Given the description of an element on the screen output the (x, y) to click on. 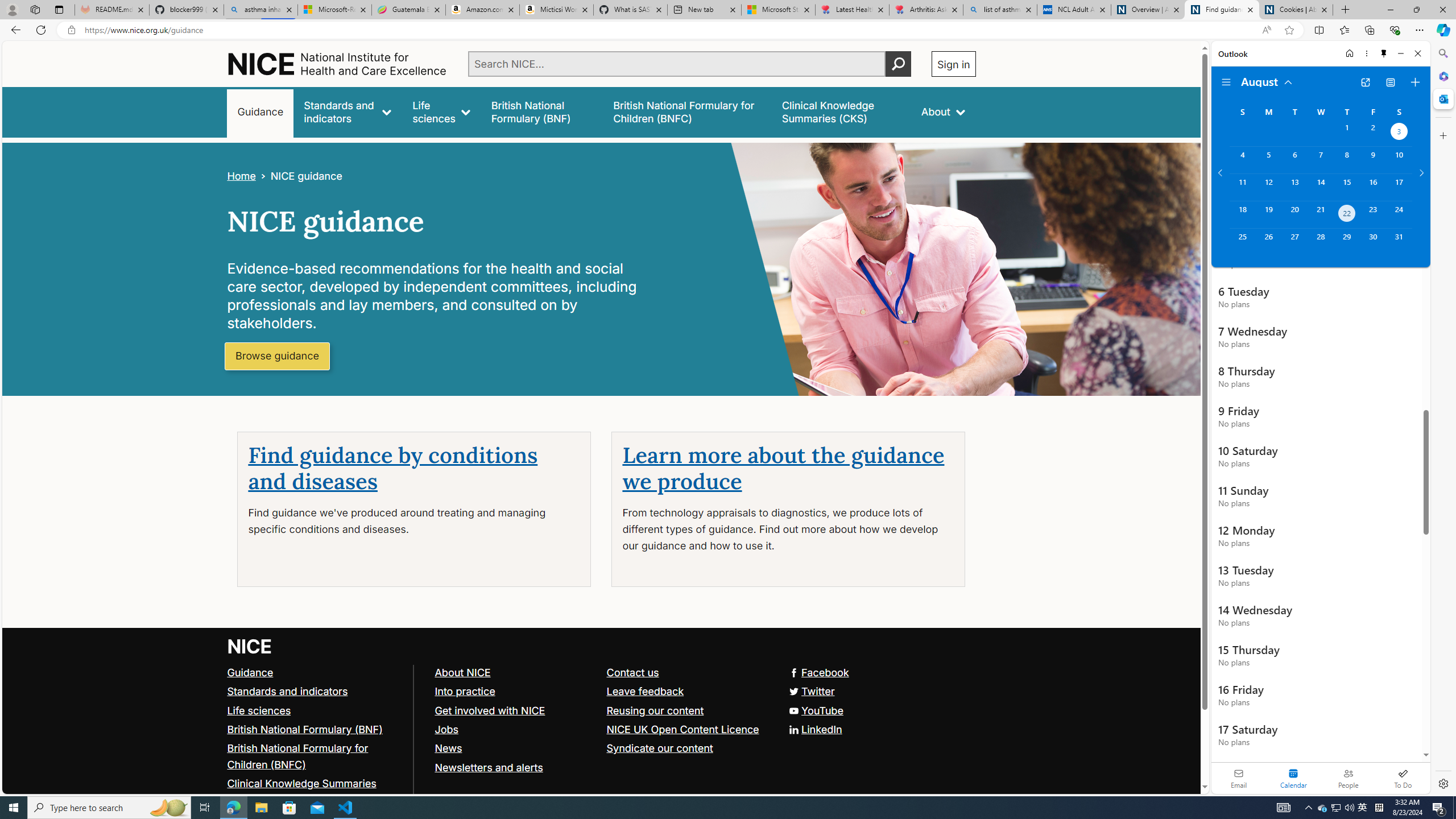
About NICE (461, 671)
Twitter (601, 691)
Newsletters and alerts (514, 767)
Into practice (464, 690)
Saturday, August 31, 2024.  (1399, 241)
